Given the description of an element on the screen output the (x, y) to click on. 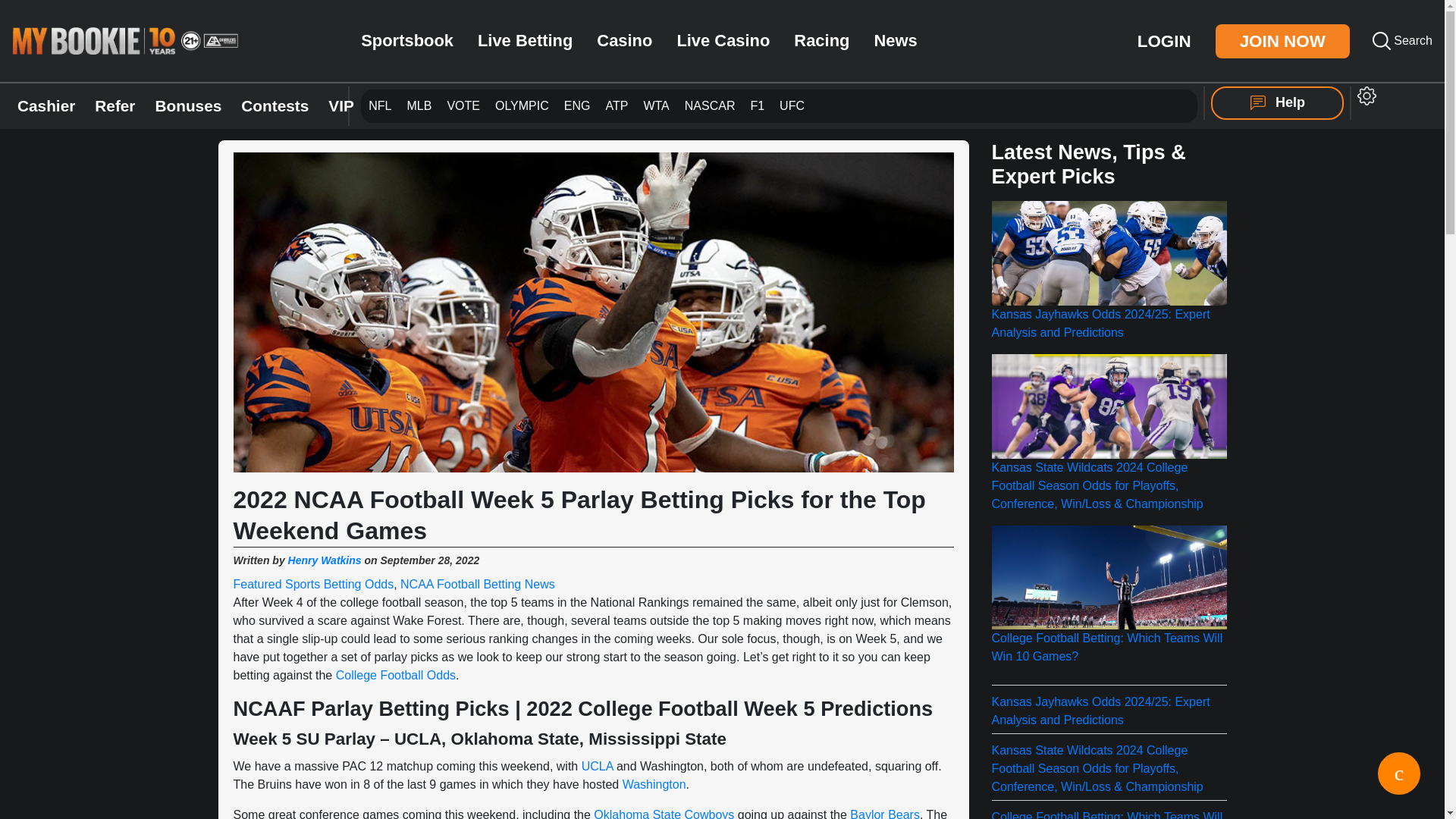
CLICK HERE TO SIGNUP. (832, 208)
ENG (577, 105)
OLYMPIC (521, 105)
OLYMPIC (521, 105)
UFC (791, 105)
Live Casino (723, 40)
NFL (379, 105)
Posts by Henry Watkins (324, 560)
Contests (274, 106)
NFL (379, 105)
